Given the description of an element on the screen output the (x, y) to click on. 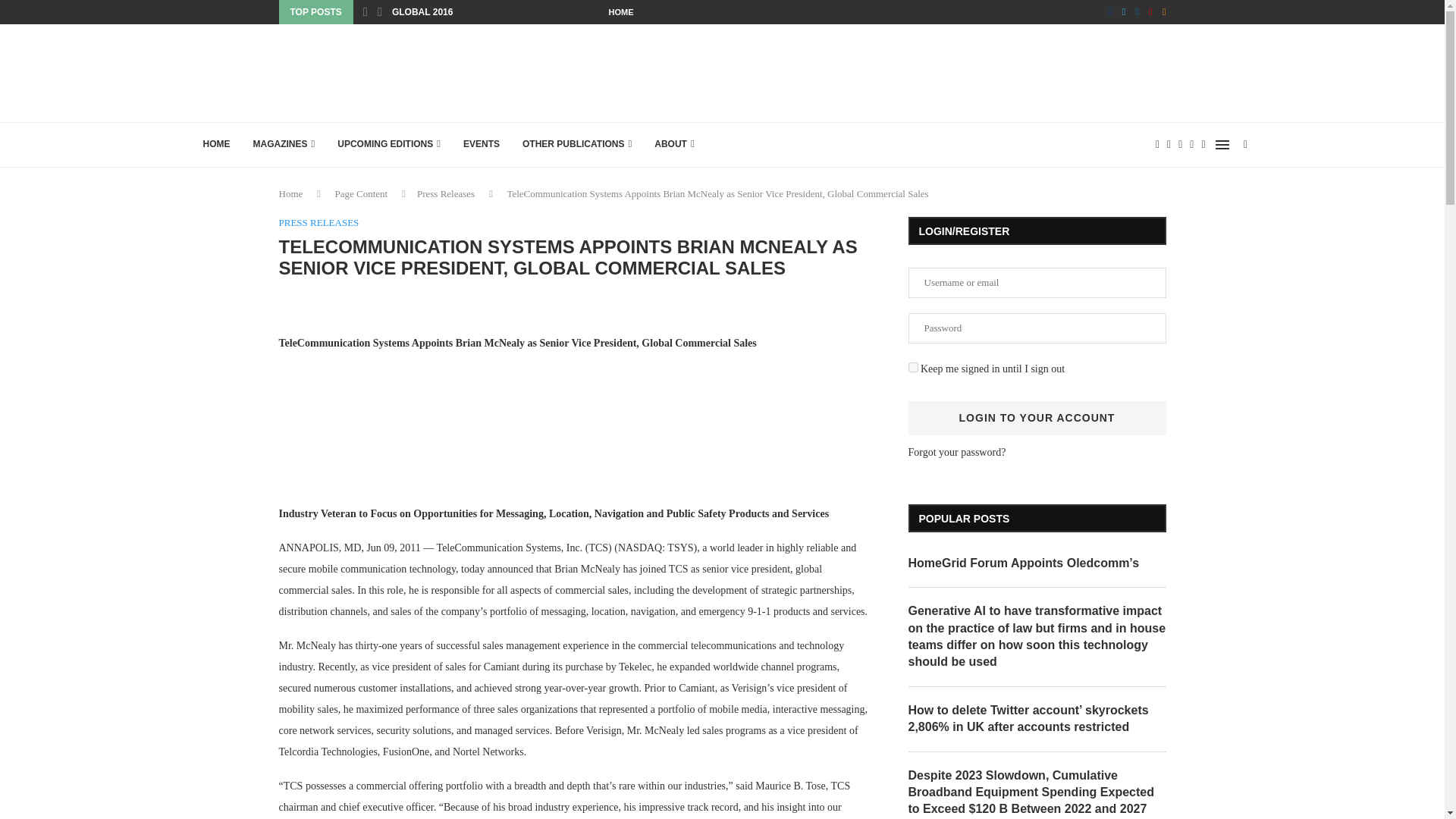
GLOBAL 2016 (421, 12)
HOME (620, 12)
Login to your account (1037, 417)
MAGAZINES (283, 144)
forever (913, 367)
HOME (215, 144)
